Given the description of an element on the screen output the (x, y) to click on. 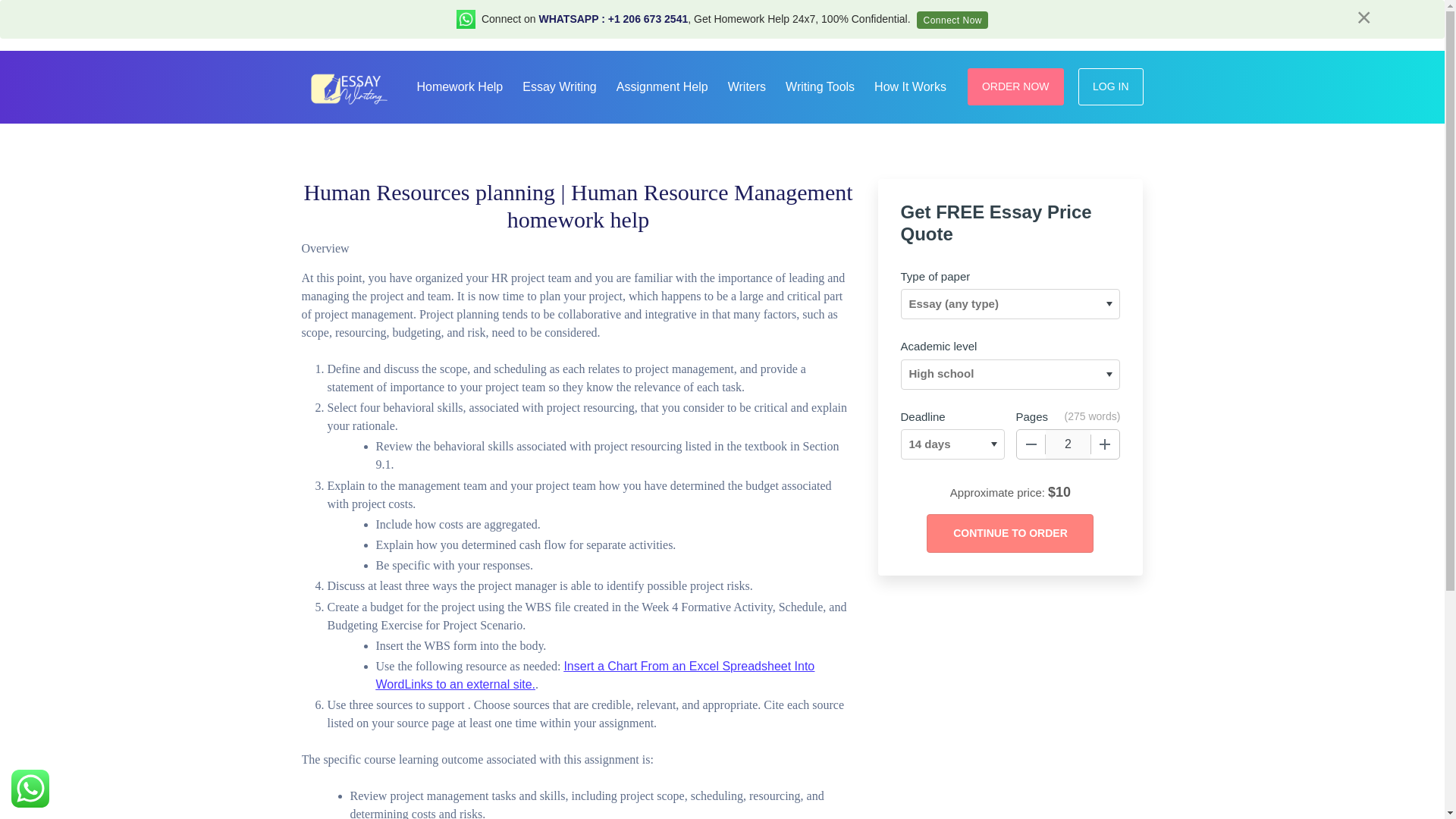
Continue to order (1009, 533)
Writers (746, 84)
Writing Tools (819, 84)
Increase (1104, 443)
Essay Writing (559, 84)
Writing Tools (819, 84)
ORDER NOW (1016, 86)
How It Works (909, 84)
LOG IN (1110, 86)
Continue to order (1009, 533)
How It Works (909, 84)
Assignment Help (662, 84)
Writers (746, 84)
Essay Writing (559, 84)
